Given the description of an element on the screen output the (x, y) to click on. 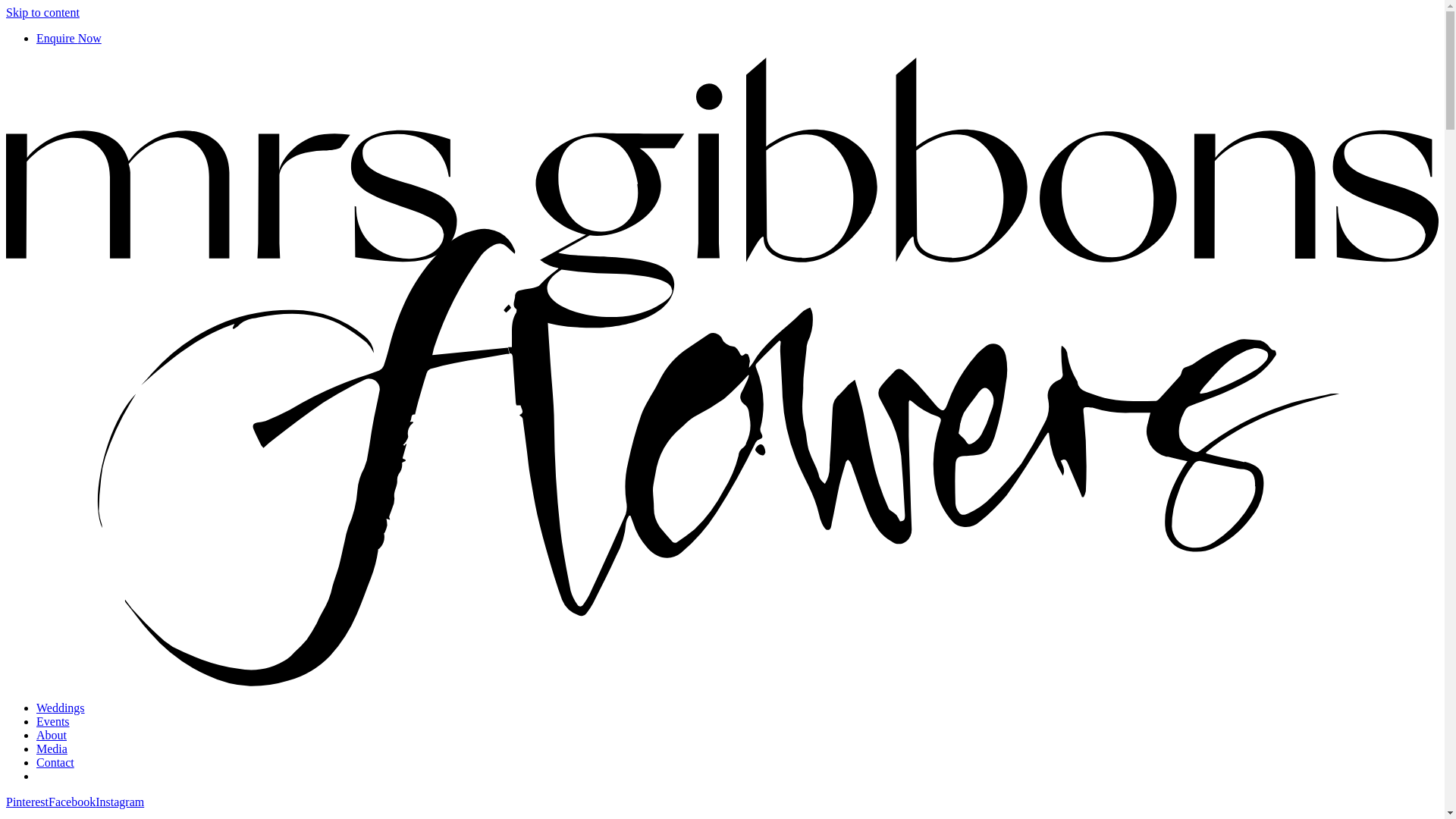
Media Element type: text (51, 748)
Facebook Element type: text (71, 801)
Pinterest Element type: text (27, 801)
Weddings Element type: text (60, 707)
Enquire Now Element type: text (68, 37)
Skip to content Element type: text (42, 12)
Contact Element type: text (55, 762)
About Element type: text (51, 734)
Instagram Element type: text (119, 801)
Events Element type: text (52, 721)
